Given the description of an element on the screen output the (x, y) to click on. 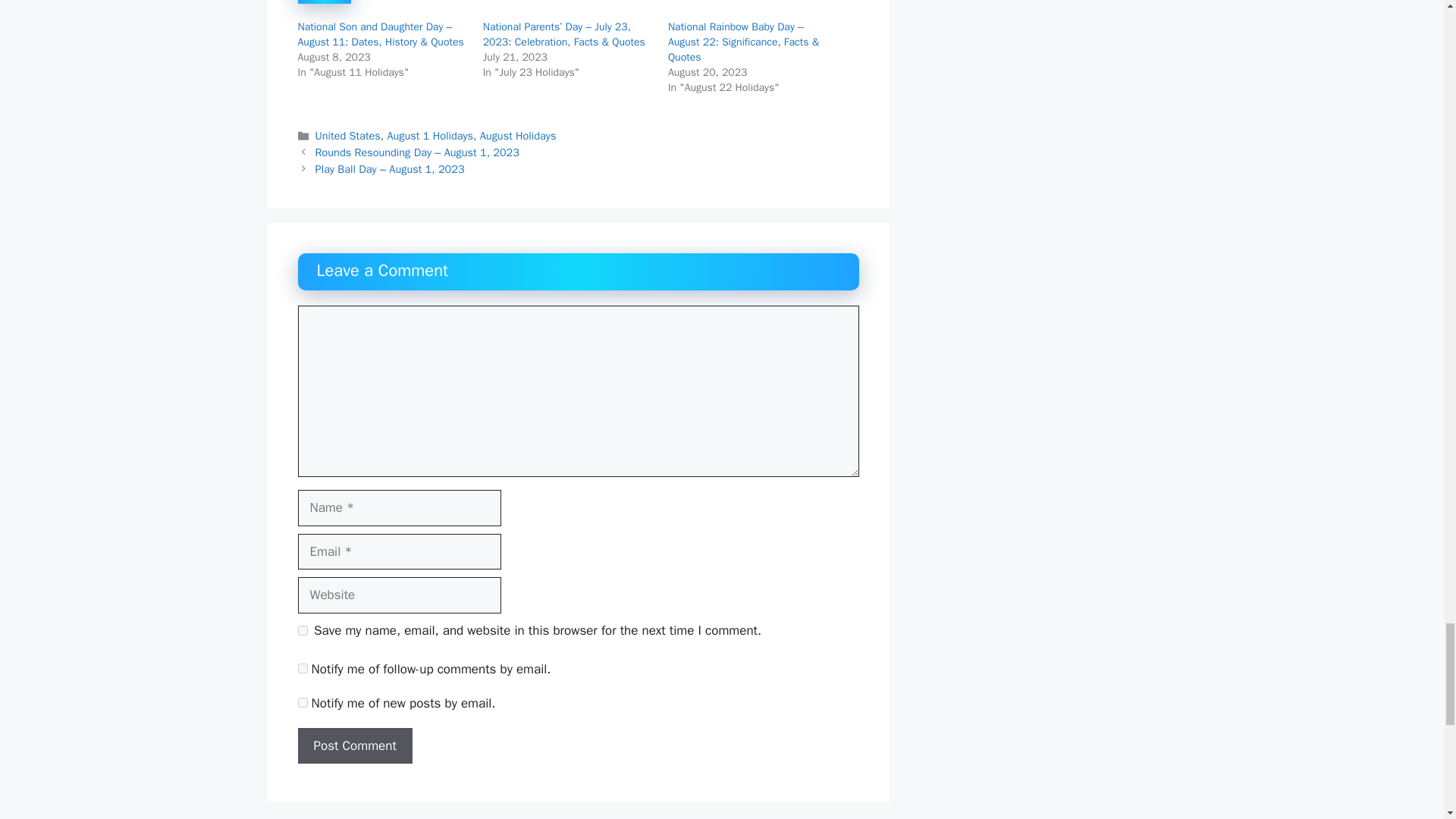
Post Comment (354, 746)
subscribe (302, 668)
subscribe (302, 702)
yes (302, 630)
